Given the description of an element on the screen output the (x, y) to click on. 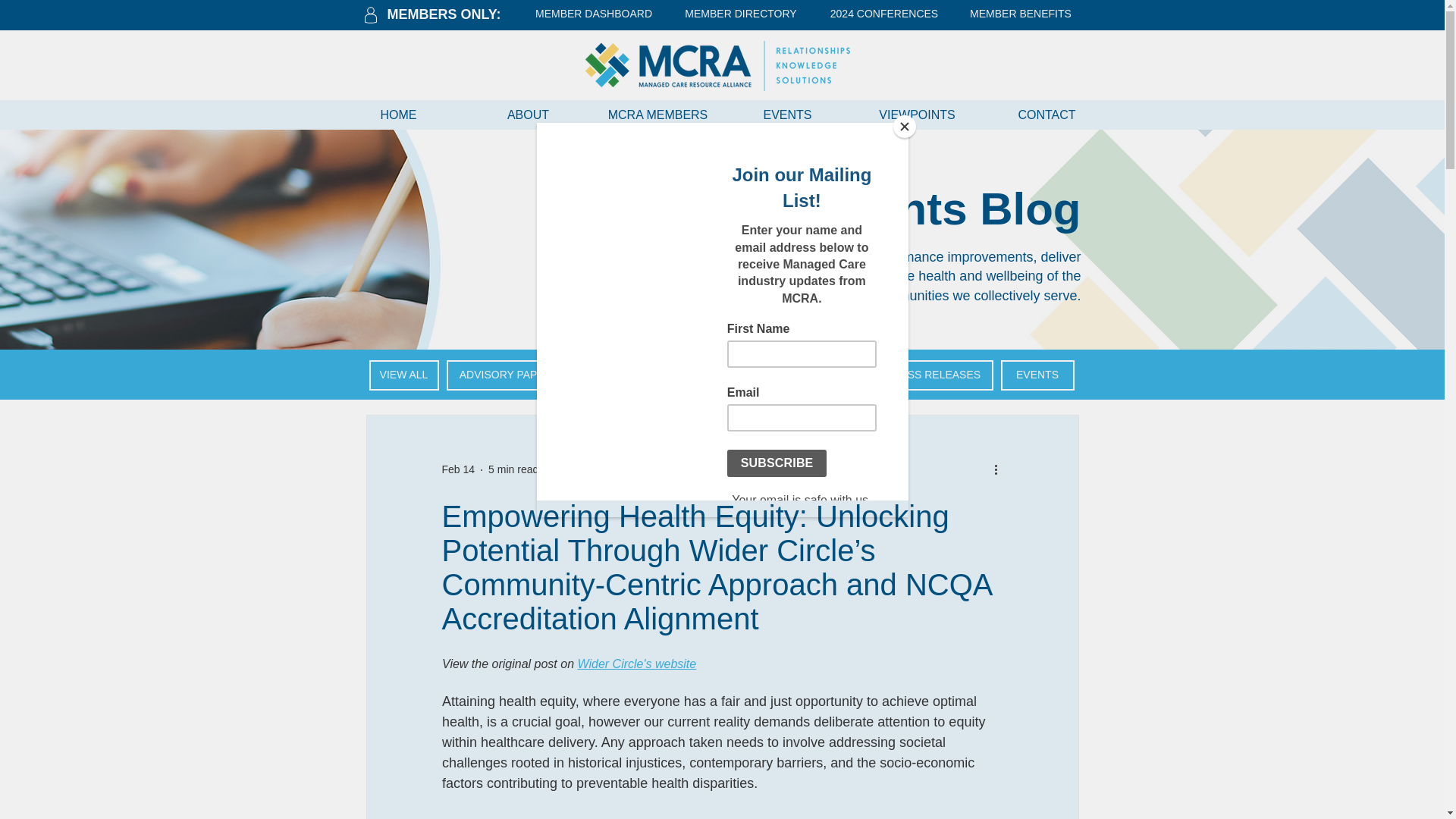
EVENTS (786, 114)
MEMBER DASHBOARD (593, 13)
MEMBER INITIATIVES (795, 375)
MEMBER DIRECTORY (740, 13)
MEMBER BENEFITS (1021, 13)
PRESS RELEASES (932, 375)
VIEWPOINTS (916, 114)
2024 CONFERENCES (884, 13)
CONTACT (1045, 114)
Wider Circle's website (635, 663)
Feb 14 (457, 469)
MCRA MEMBERS (657, 114)
5 min read (512, 469)
VIEW ALL (403, 375)
EVENTS (1037, 375)
